Given the description of an element on the screen output the (x, y) to click on. 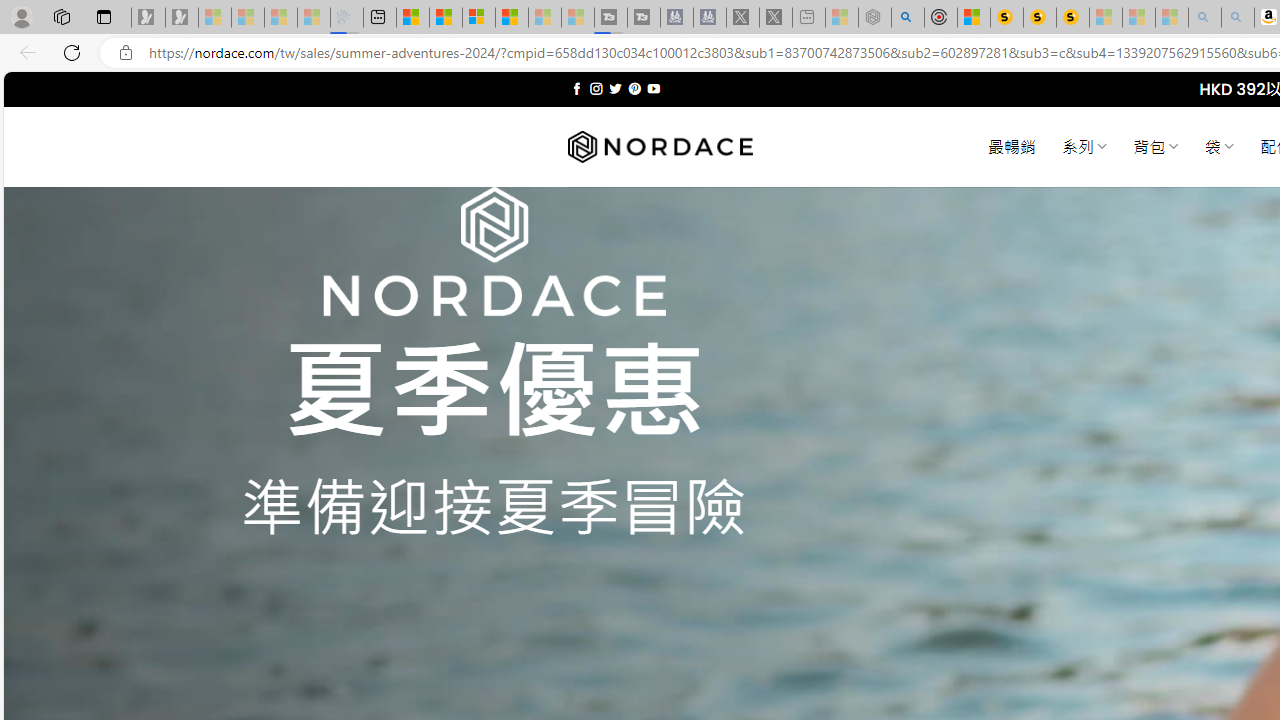
Microsoft Start - Sleeping (544, 17)
X - Sleeping (776, 17)
poe - Search (908, 17)
New tab (379, 17)
Refresh (72, 52)
Follow on Pinterest (634, 88)
Amazon Echo Dot PNG - Search Images - Sleeping (1238, 17)
Nordace (659, 147)
Follow on Twitter (615, 88)
